Given the description of an element on the screen output the (x, y) to click on. 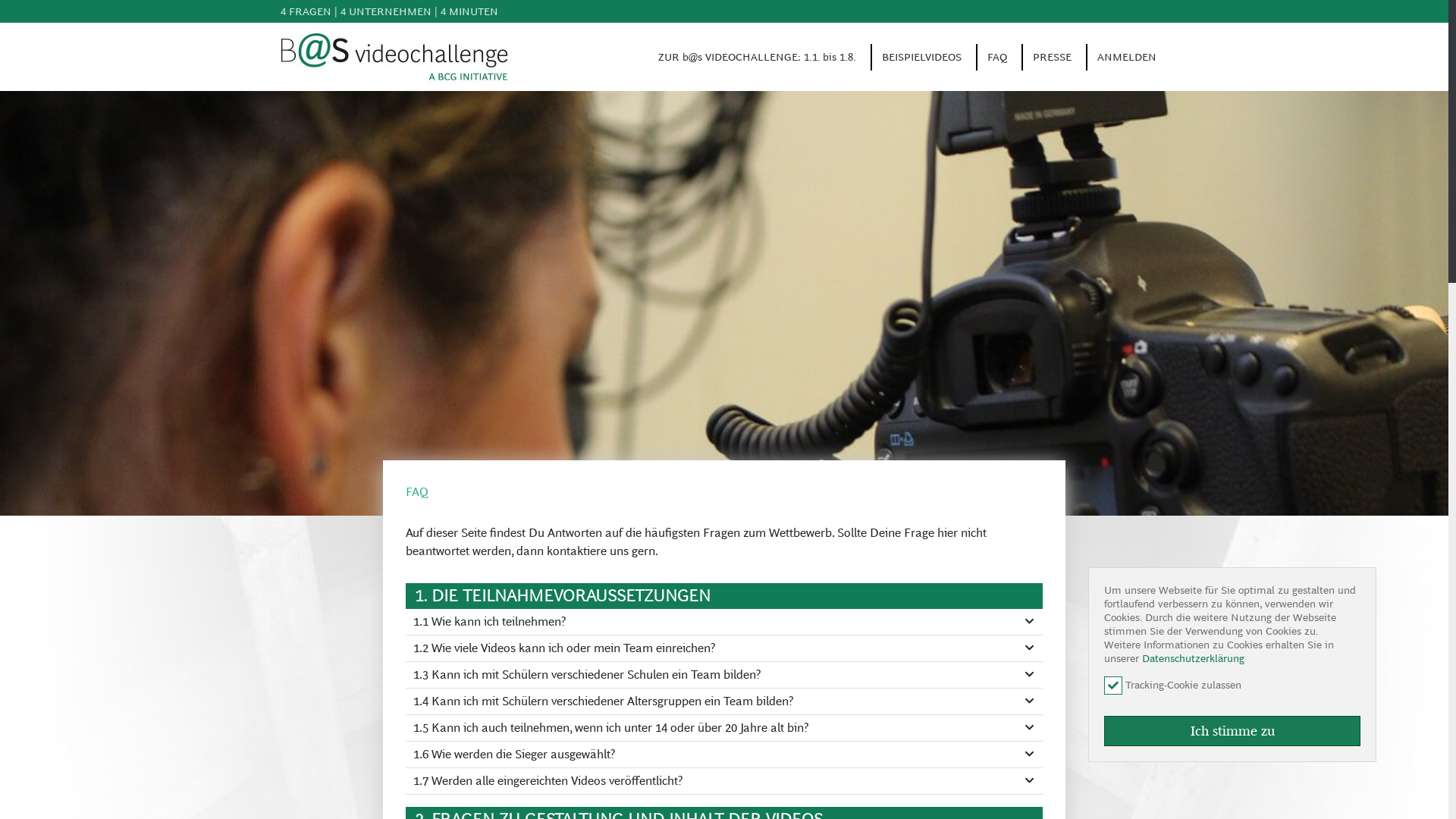
FAQ Element type: text (996, 56)
PRESSE Element type: text (1051, 56)
ZUR b@s VIDEOCHALLENGE: 1.1. bis 1.8. Element type: text (756, 56)
BEISPIELVIDEOS Element type: text (921, 56)
ANMELDEN Element type: text (1126, 56)
videochallenge.bayern Element type: hover (396, 56)
Ich stimme zu Element type: text (1232, 730)
